Given the description of an element on the screen output the (x, y) to click on. 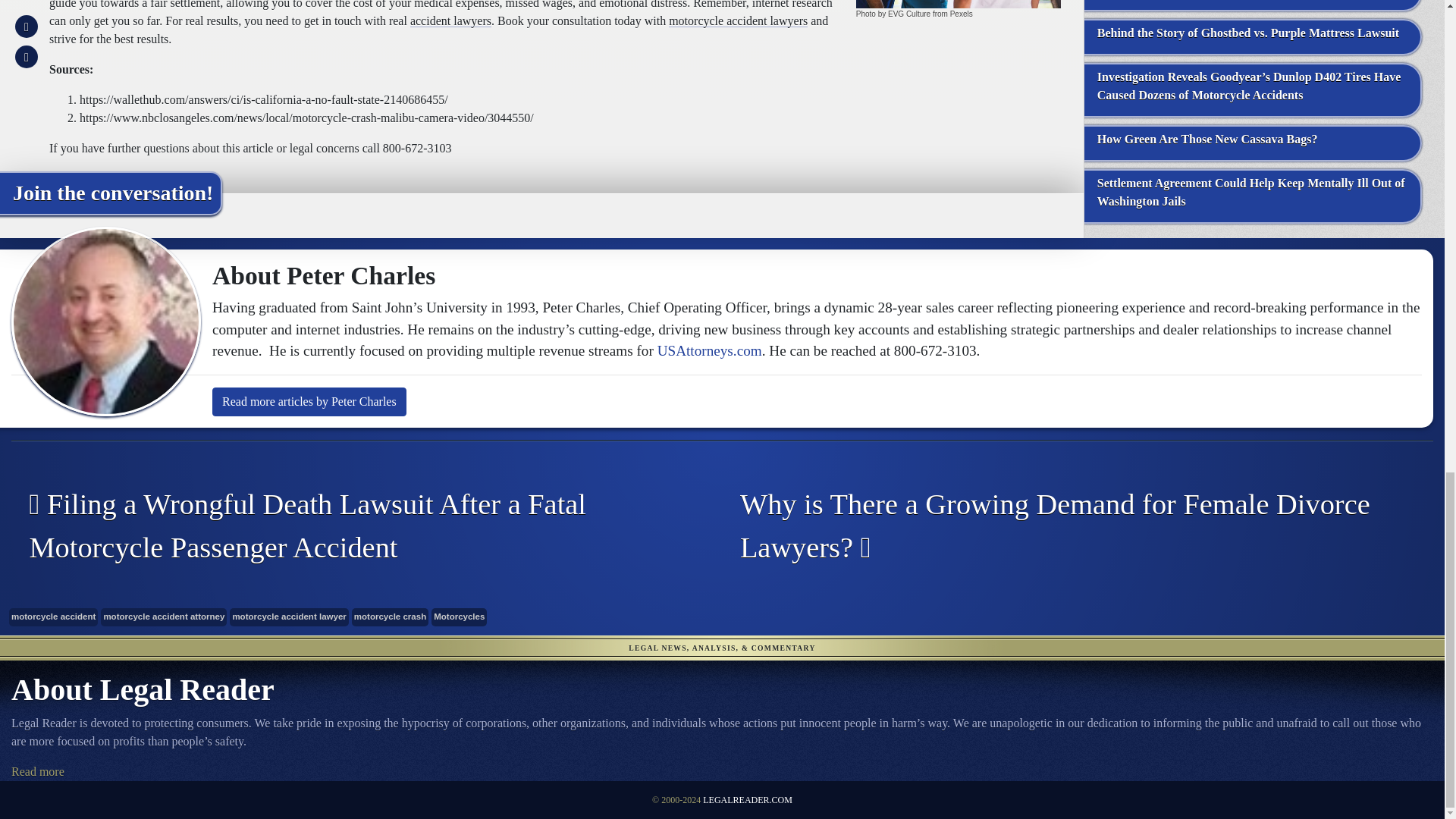
accident lawyers (451, 20)
motorcycle accident (52, 616)
Read more articles by Peter Charles (309, 401)
motorcycle accident lawyers (738, 20)
Read more articles by Peter Charles (309, 401)
Motorcycles (458, 616)
Why is There a Growing Demand for Female Divorce Lawyers?  (1066, 526)
motorcycle accident lawyer (288, 616)
USAttorneys.com (709, 350)
